Given the description of an element on the screen output the (x, y) to click on. 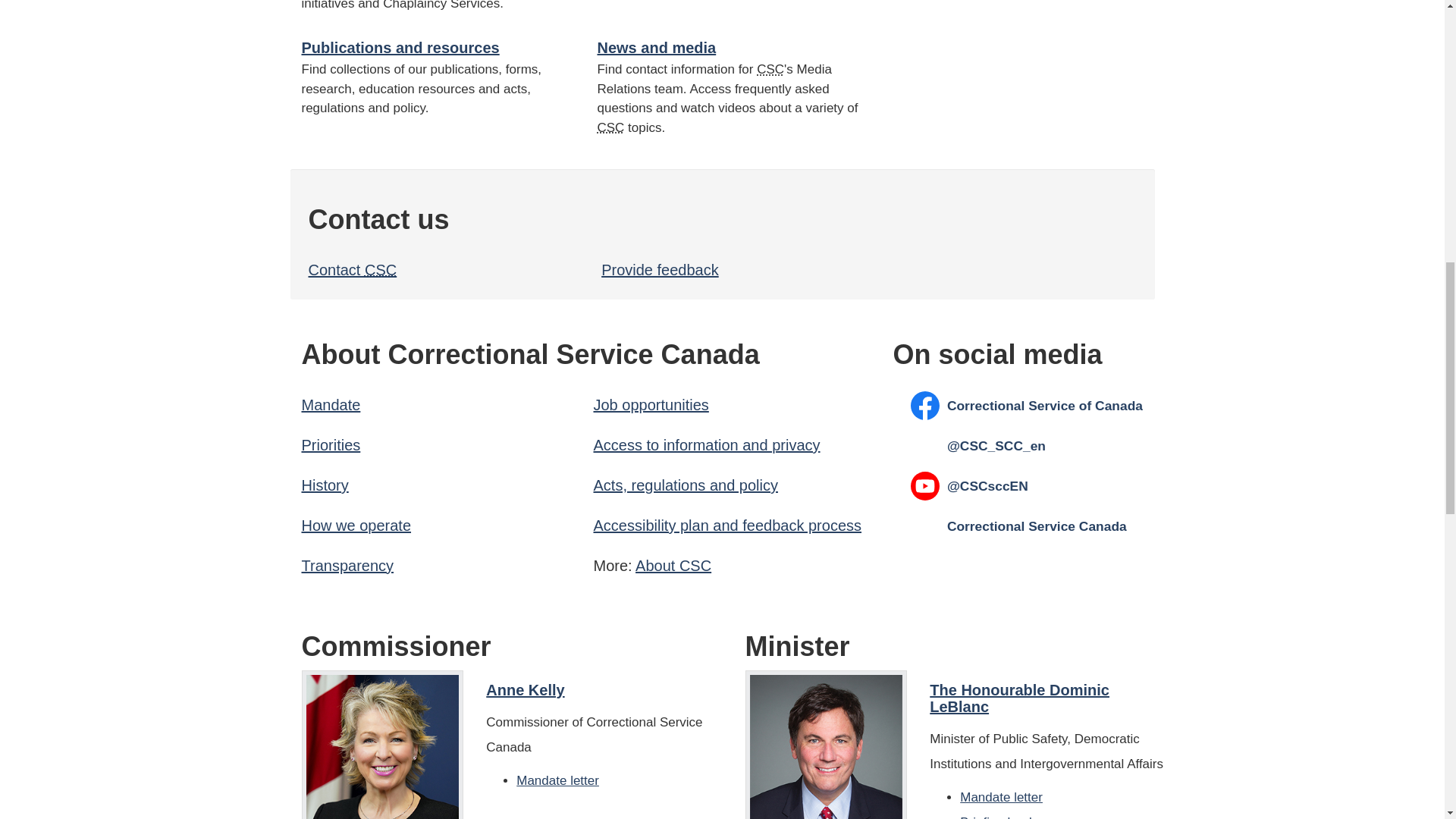
Contact CSC (351, 269)
Publications and resources (400, 47)
Priorities (331, 444)
Correctional Service Canada (770, 69)
Provide feedback (660, 269)
News and media (656, 47)
Correctional Service Canada (380, 269)
Correctional Service Canada (695, 565)
Mandate (331, 404)
Correctional Service Canada (610, 127)
